Given the description of an element on the screen output the (x, y) to click on. 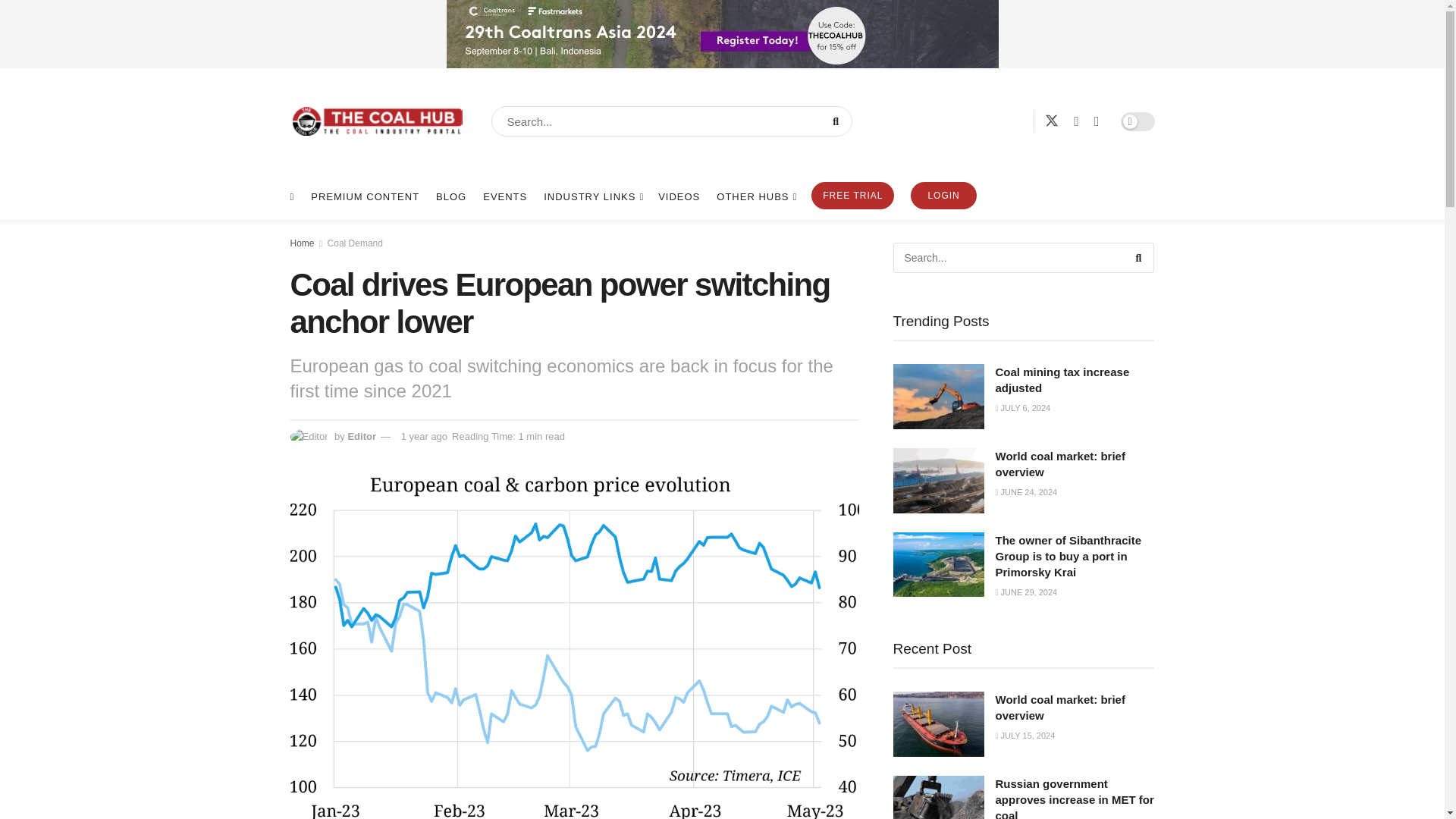
OTHER HUBS (755, 197)
INDUSTRY LINKS (592, 197)
FREE TRIAL (851, 195)
PREMIUM CONTENT (365, 197)
VIDEOS (679, 197)
EVENTS (505, 197)
LOGIN (943, 195)
